Given the description of an element on the screen output the (x, y) to click on. 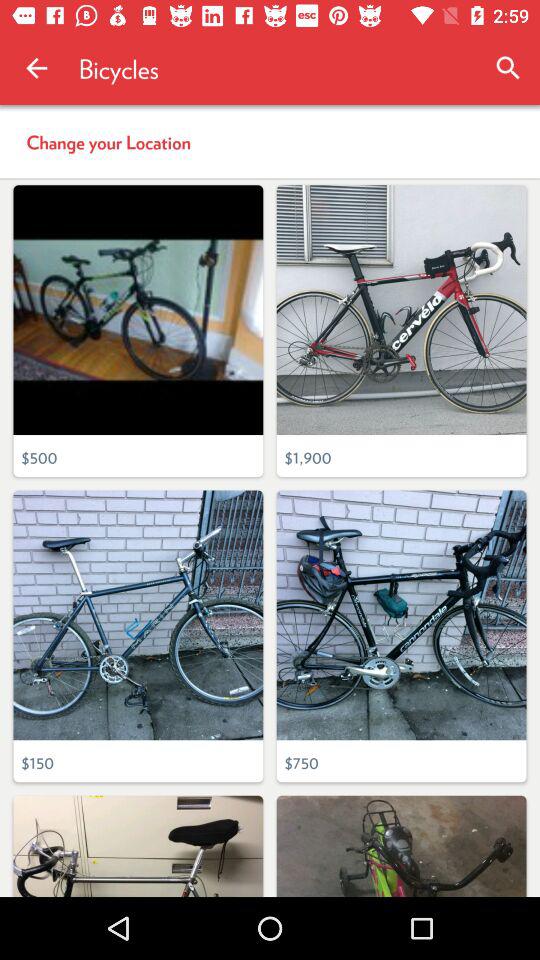
tap the app next to the bicycles app (508, 67)
